Given the description of an element on the screen output the (x, y) to click on. 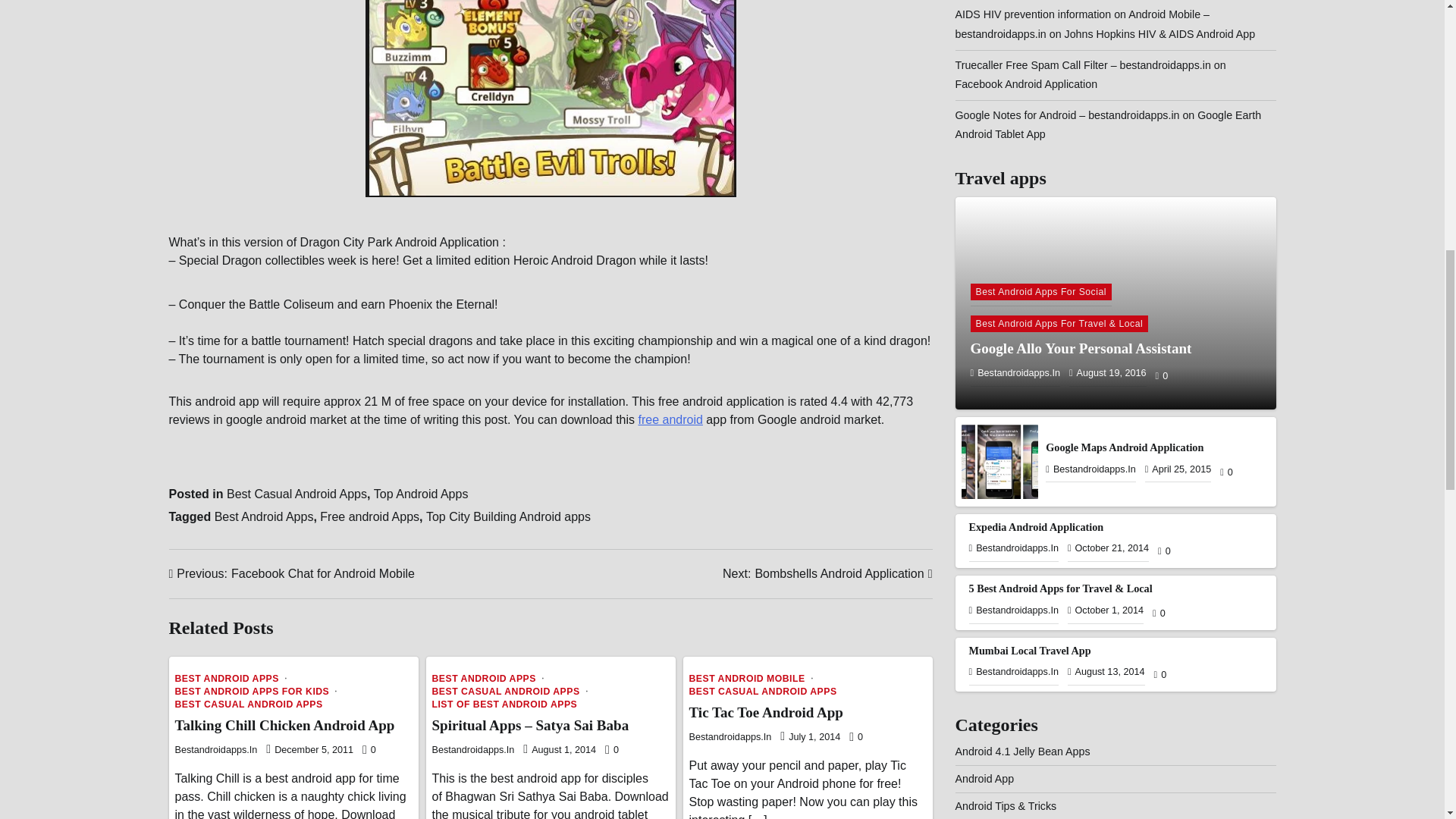
BEST ANDROID APPS (231, 678)
Top Android Apps (421, 493)
LIST OF BEST ANDROID APPS (505, 704)
Talking Chill Chicken Android App (284, 725)
BEST ANDROID APPS (489, 678)
Top City Building Android apps (508, 516)
Free android Apps (369, 516)
Best Android Apps (264, 516)
BEST CASUAL ANDROID APPS (247, 704)
dragon city android app (550, 98)
